Given the description of an element on the screen output the (x, y) to click on. 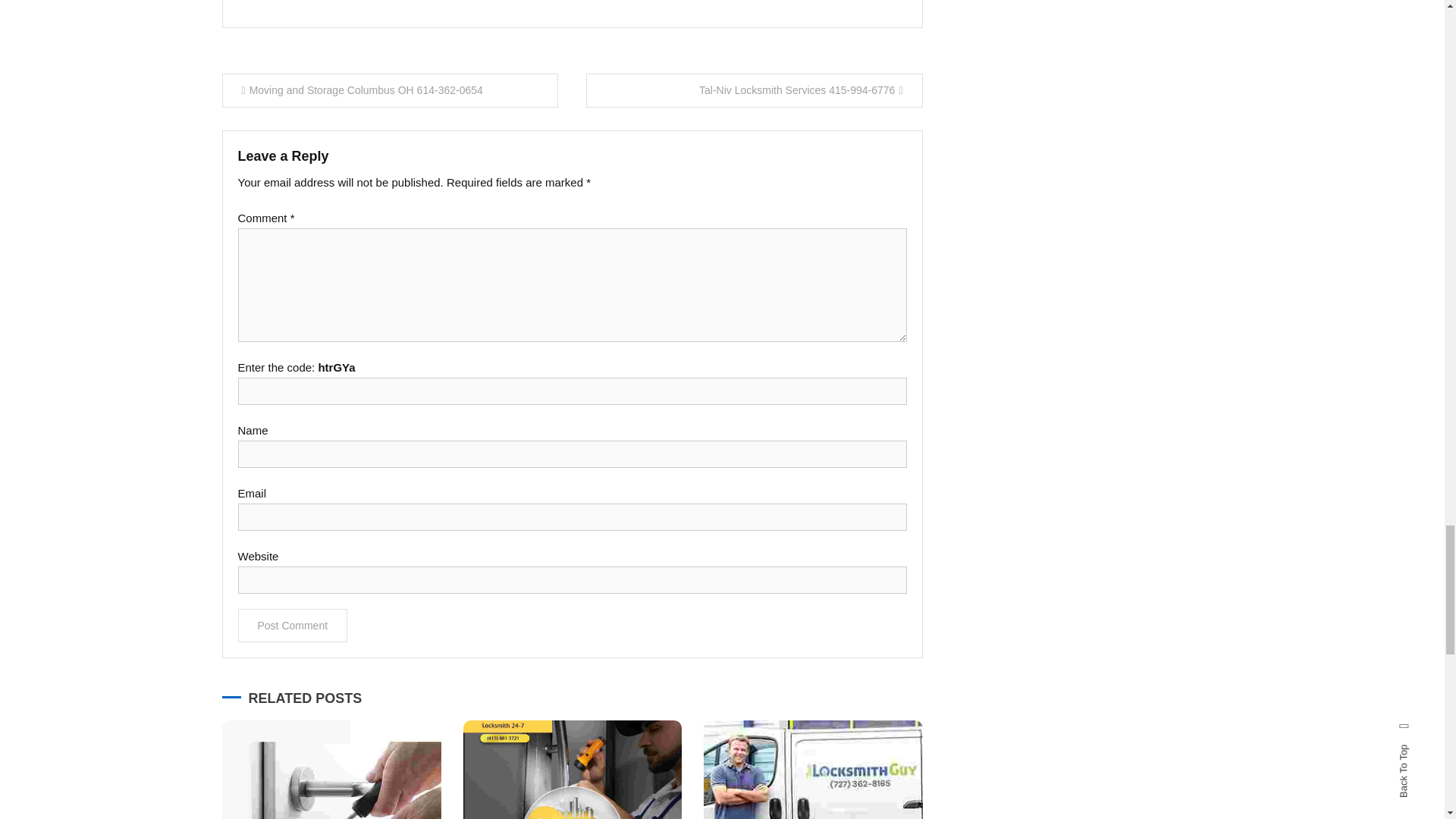
Post Comment (292, 625)
